Given the description of an element on the screen output the (x, y) to click on. 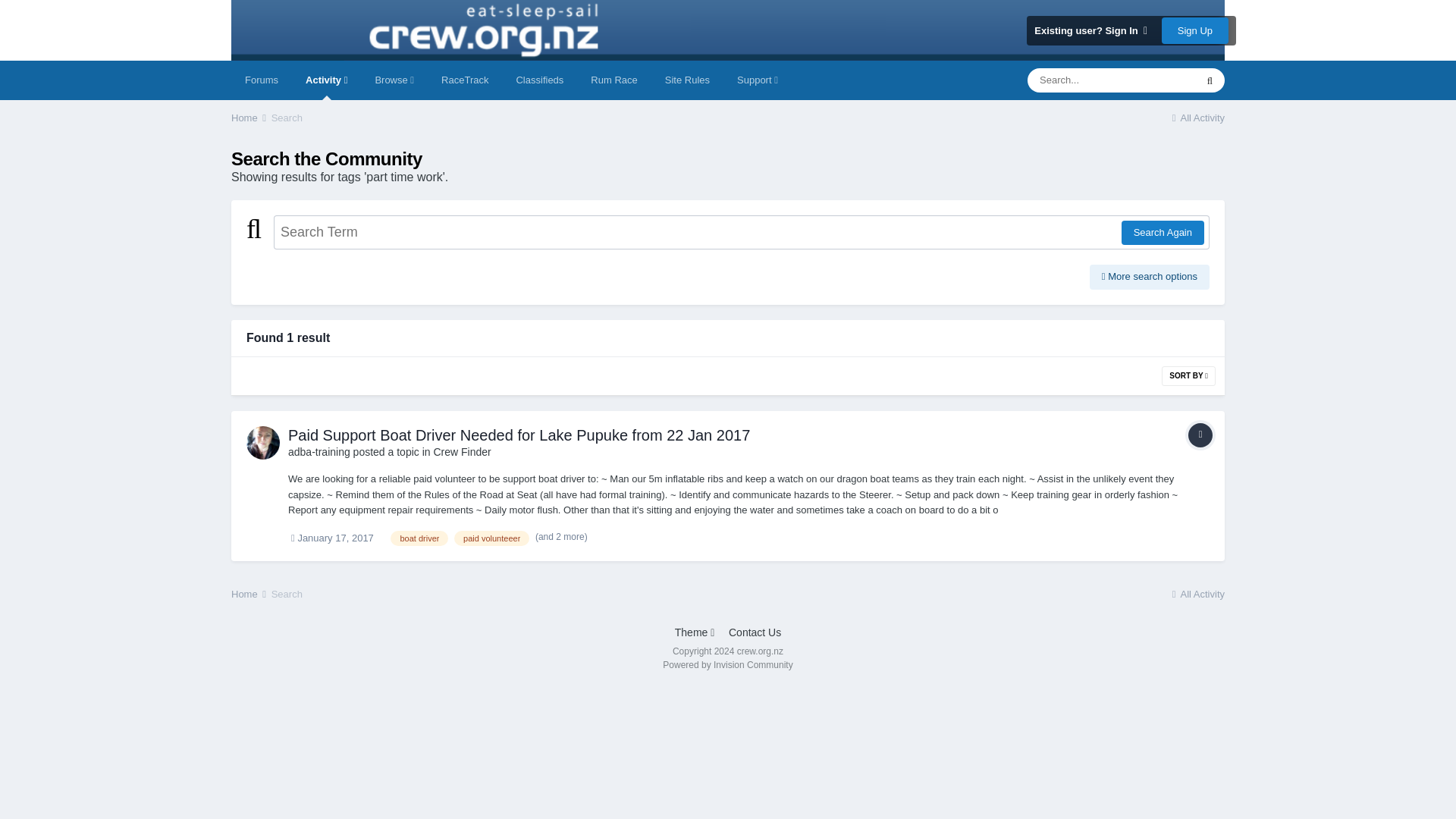
Invision Community (727, 665)
Support (757, 79)
Go to adba-training's profile (262, 442)
Sign Up (1194, 29)
Browse (394, 79)
Activity (326, 79)
RaceTrack (465, 79)
Home (249, 117)
More search options (1149, 276)
Existing user? Sign In   (1090, 30)
